Given the description of an element on the screen output the (x, y) to click on. 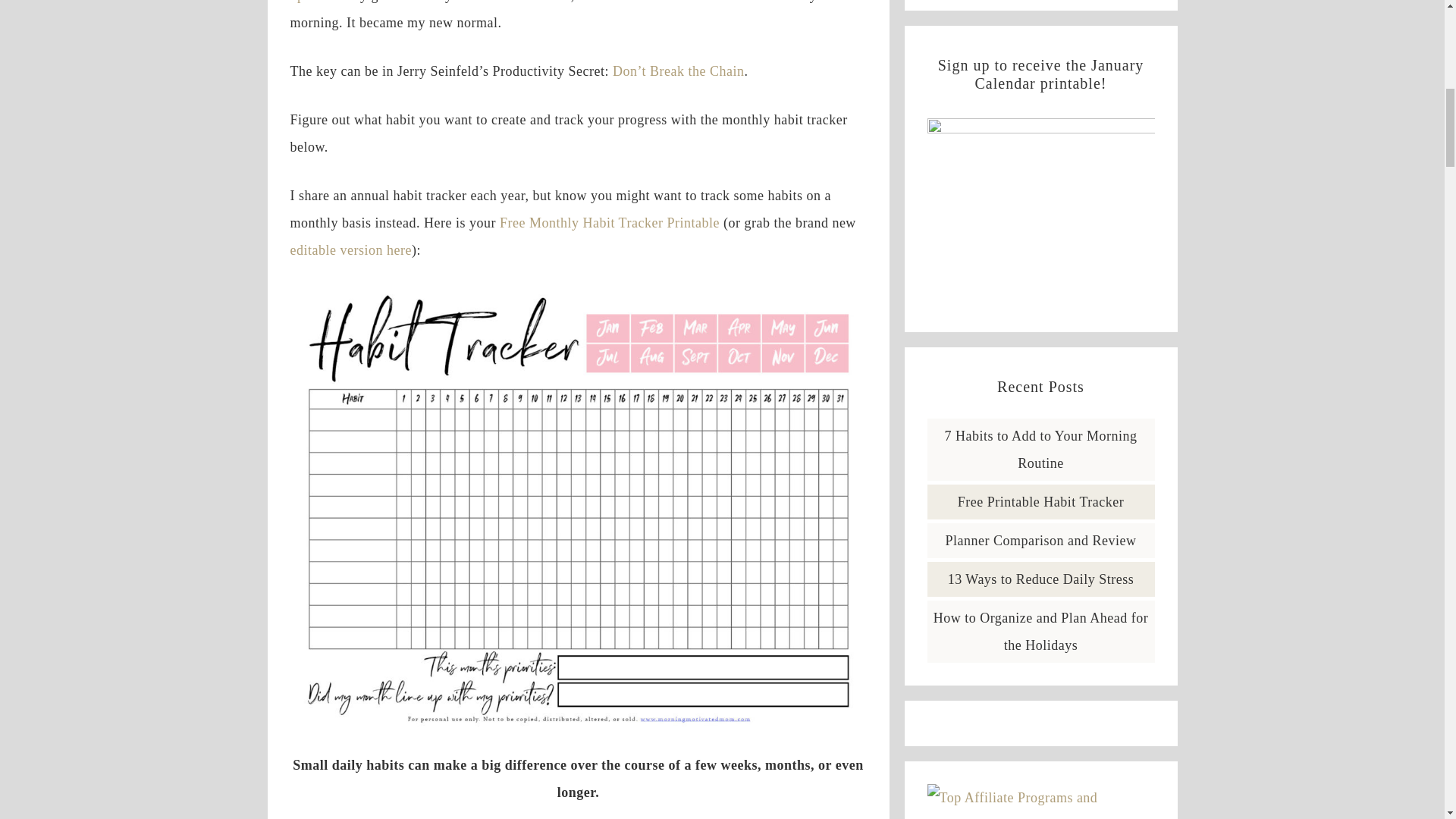
editable version here (349, 249)
Free Monthly Habit Tracker Printable (609, 222)
